Given the description of an element on the screen output the (x, y) to click on. 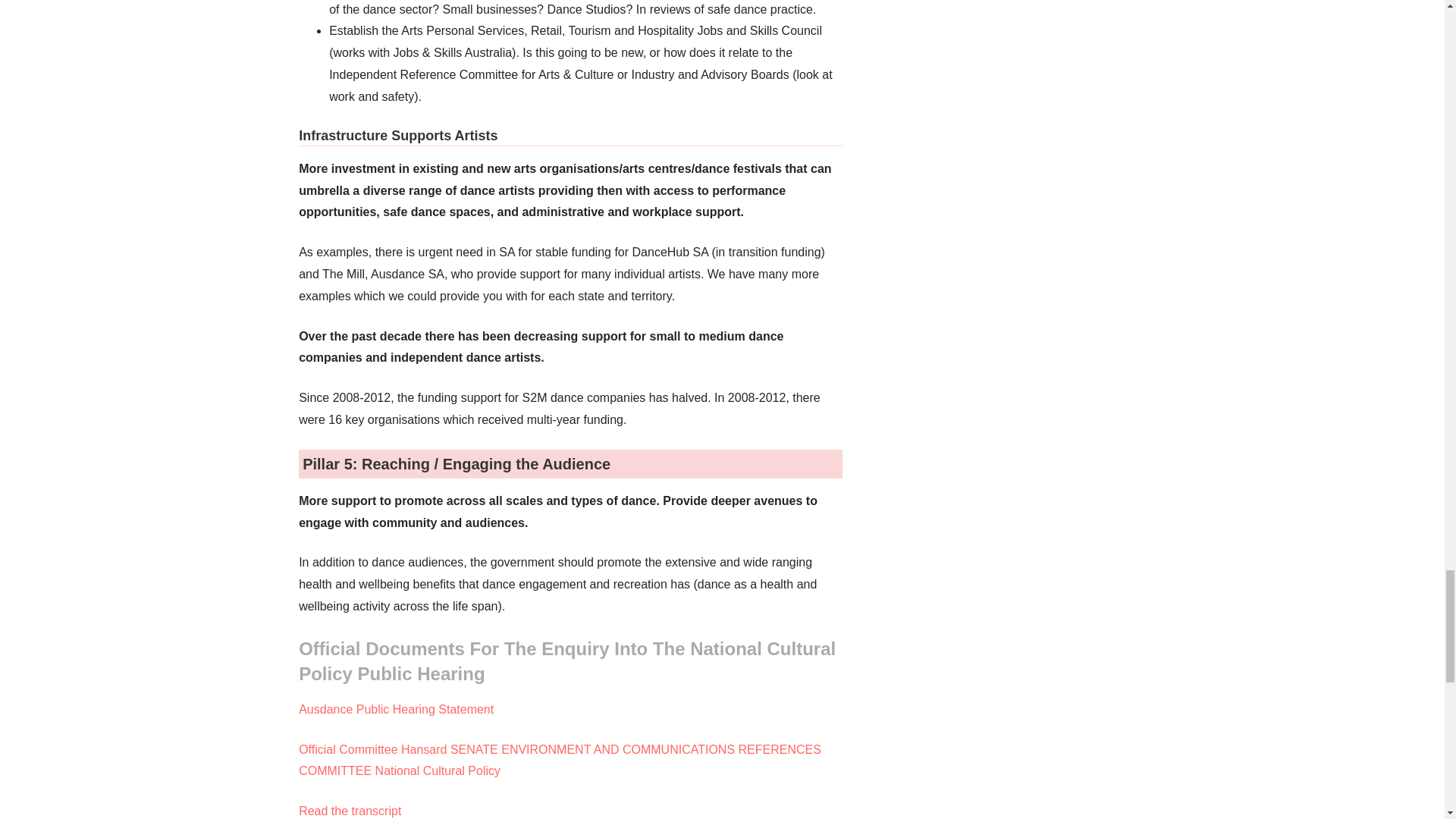
Ausdance Public Hearing Statement (395, 708)
National Cultural Policy (559, 760)
Read the transcript (349, 810)
